Given the description of an element on the screen output the (x, y) to click on. 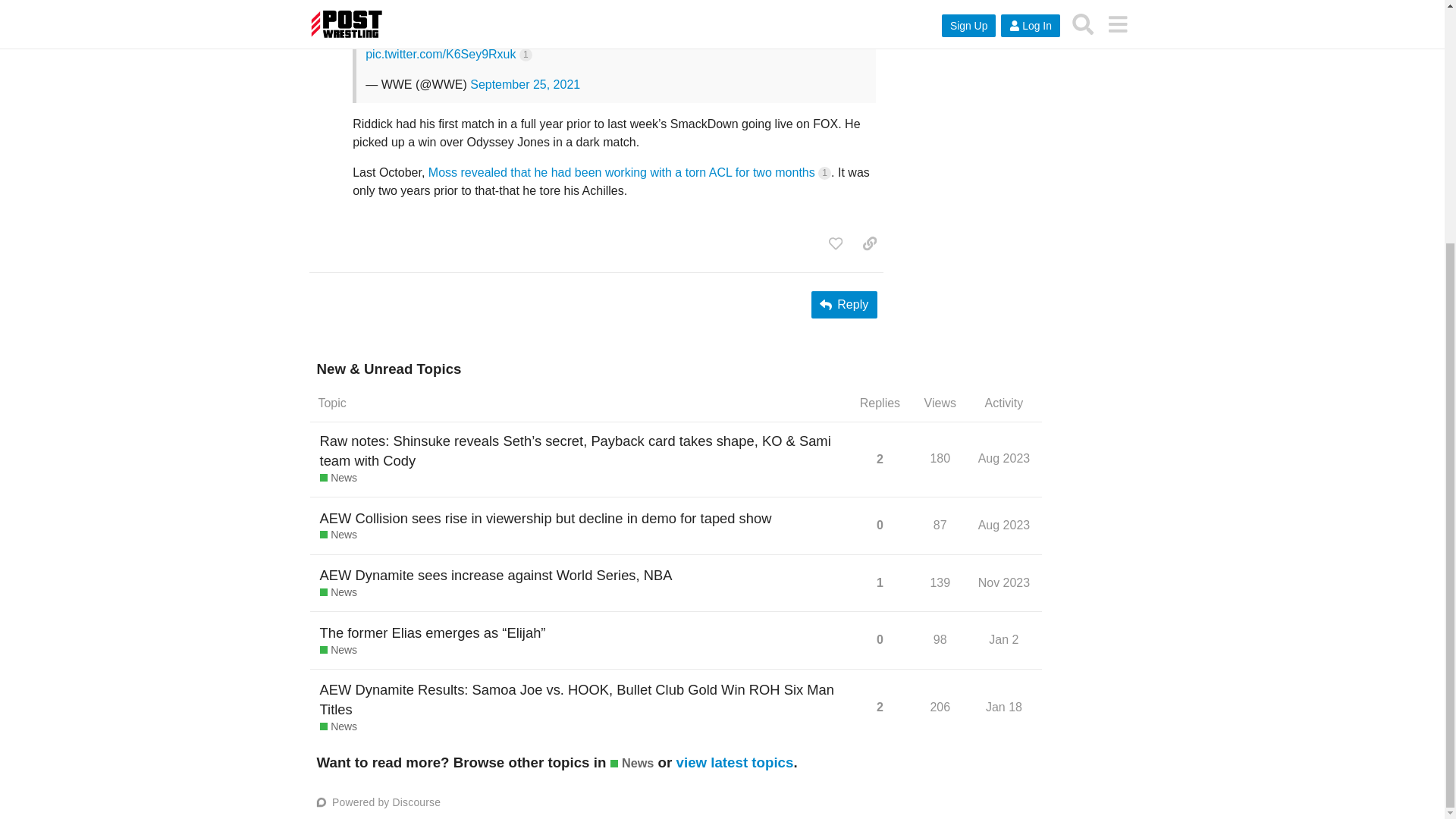
copy a link to this post to clipboard (869, 243)
Aug 2023 (1005, 463)
like this post (1003, 457)
News (835, 243)
Nov 2023 (338, 478)
September 25, 2021 (1003, 582)
Reply (524, 83)
News (843, 304)
1 click (338, 592)
News (824, 173)
1 click (338, 534)
